Given the description of an element on the screen output the (x, y) to click on. 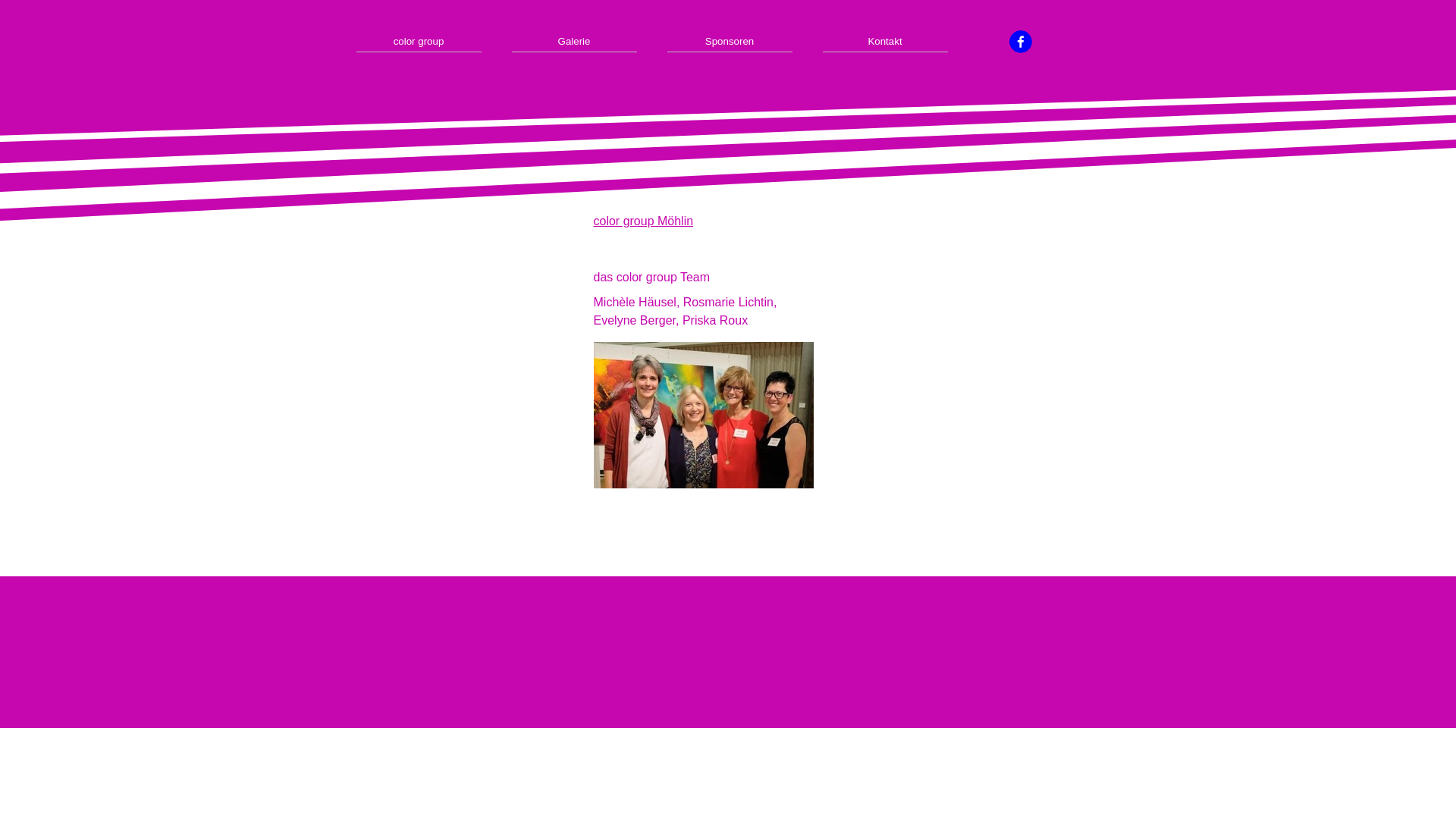
Sponsoren Element type: text (728, 40)
Galerie Element type: text (574, 40)
color group Element type: text (417, 40)
